Given the description of an element on the screen output the (x, y) to click on. 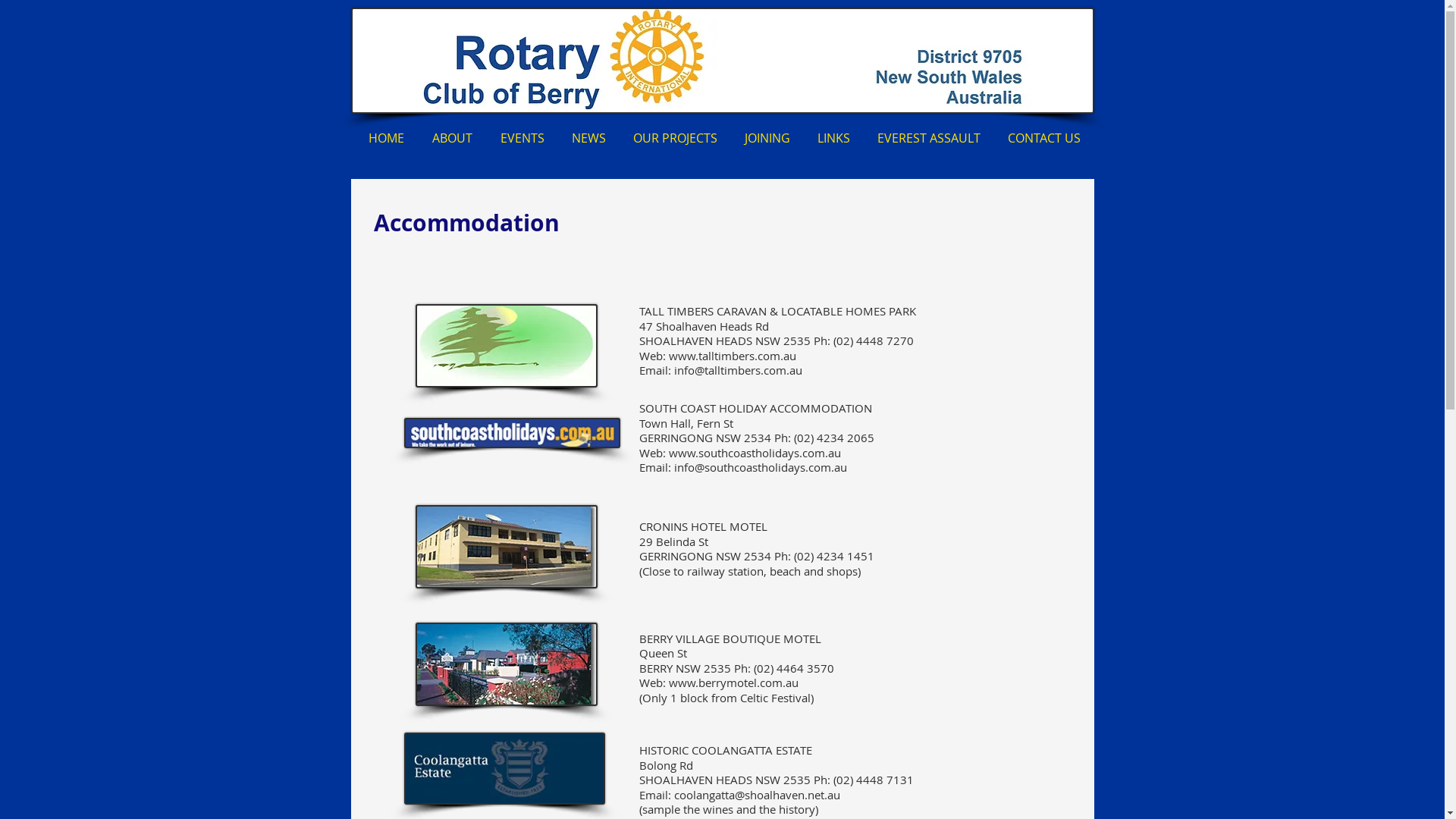
info@talltimbers.com.au Element type: text (737, 369)
HOME Element type: text (386, 138)
NEWS Element type: text (588, 138)
ABOUT Element type: text (452, 138)
OUR PROJECTS Element type: text (674, 138)
EVEREST ASSAULT Element type: text (927, 138)
LINKS Element type: text (833, 138)
CONTACT US Element type: text (1043, 138)
Bannerhead.jpg Element type: hover (721, 60)
EVENTS Element type: text (522, 138)
JOINING Element type: text (767, 138)
